Given the description of an element on the screen output the (x, y) to click on. 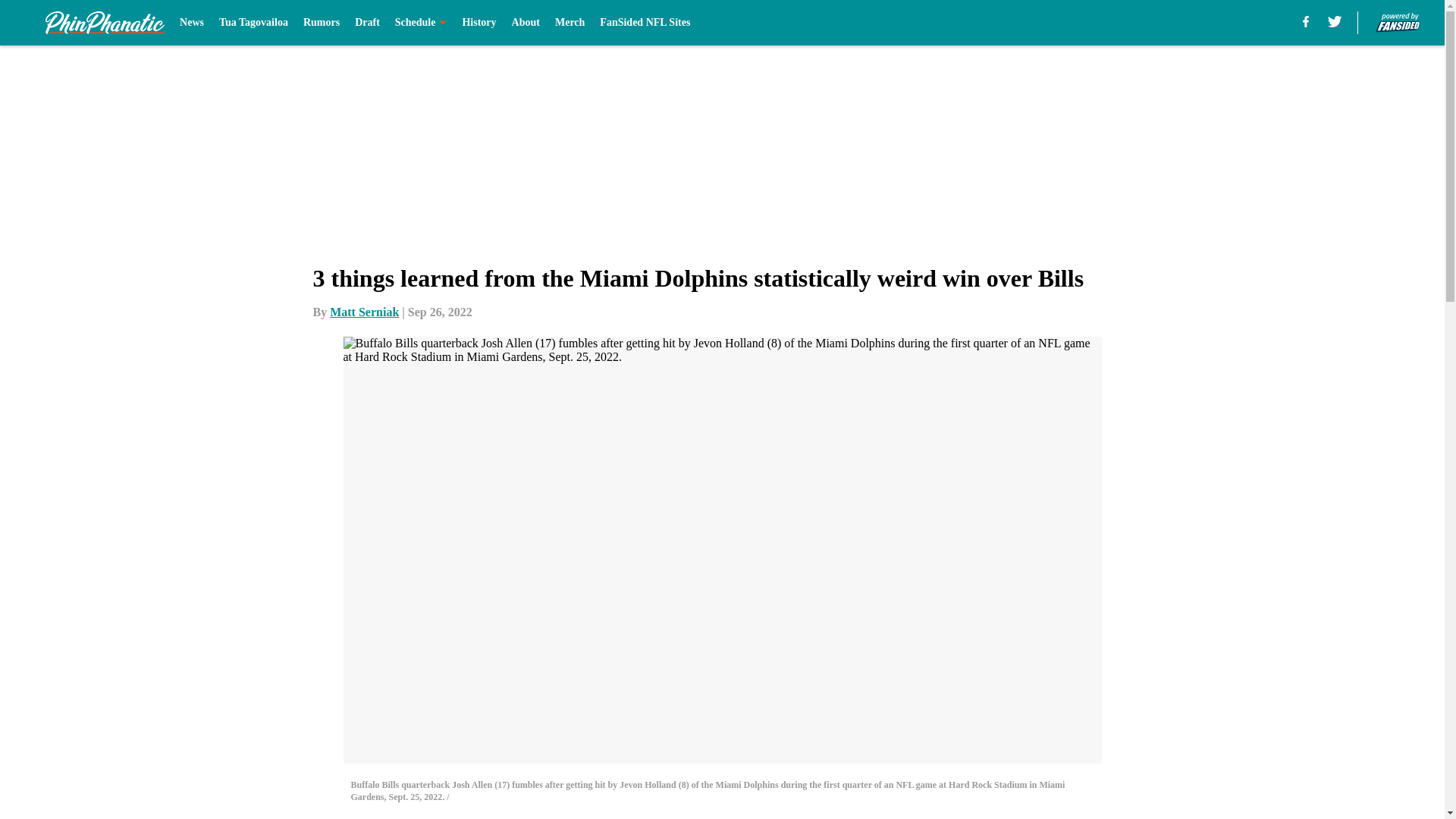
About (526, 22)
Tua Tagovailoa (253, 22)
News (191, 22)
Merch (569, 22)
History (478, 22)
FanSided NFL Sites (644, 22)
Matt Serniak (364, 311)
Rumors (320, 22)
Draft (367, 22)
